Given the description of an element on the screen output the (x, y) to click on. 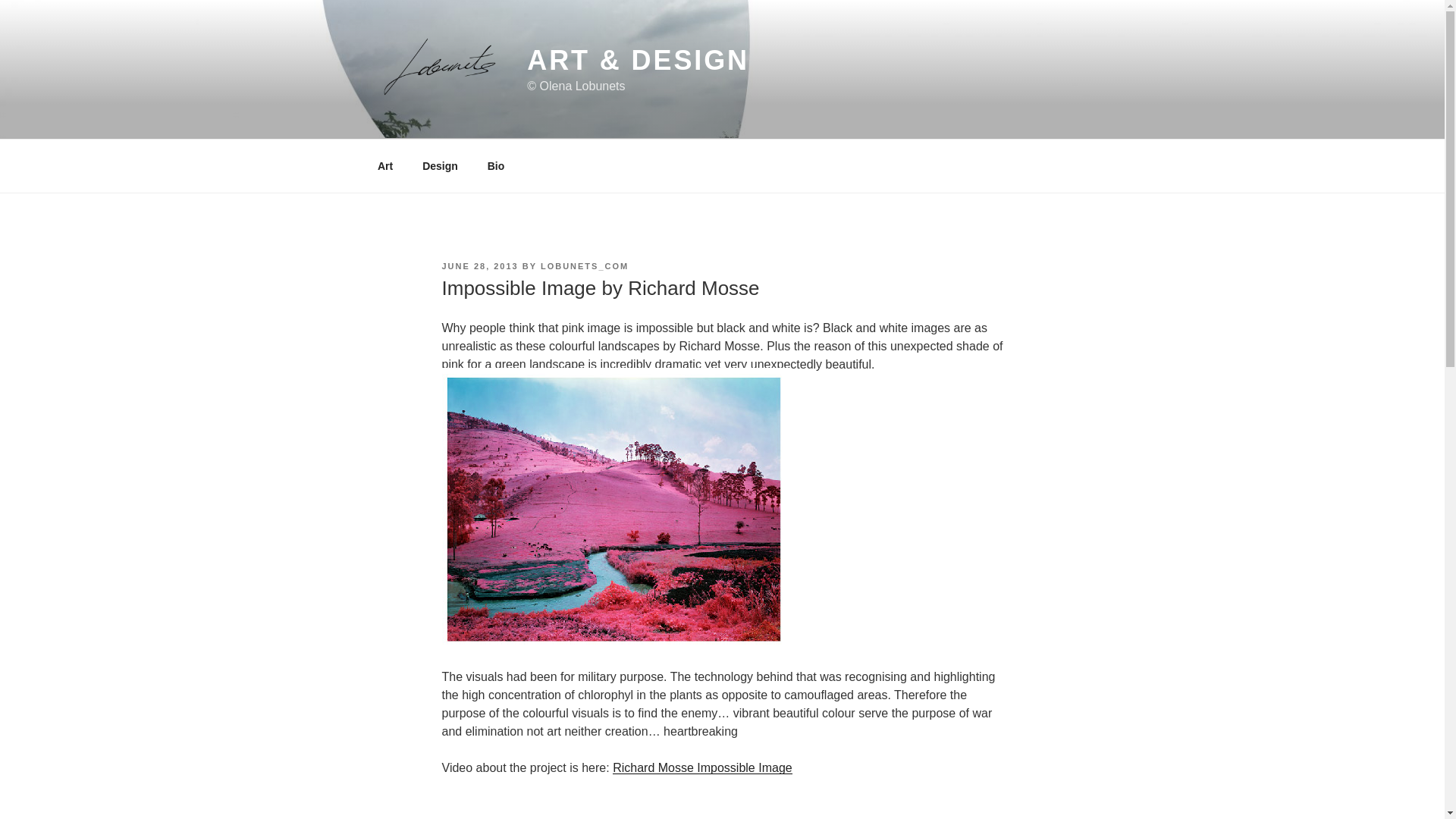
JUNE 28, 2013 (479, 266)
Design (440, 165)
Richard Mosse Impossible Image (702, 767)
Bio (496, 165)
Art (385, 165)
